Given the description of an element on the screen output the (x, y) to click on. 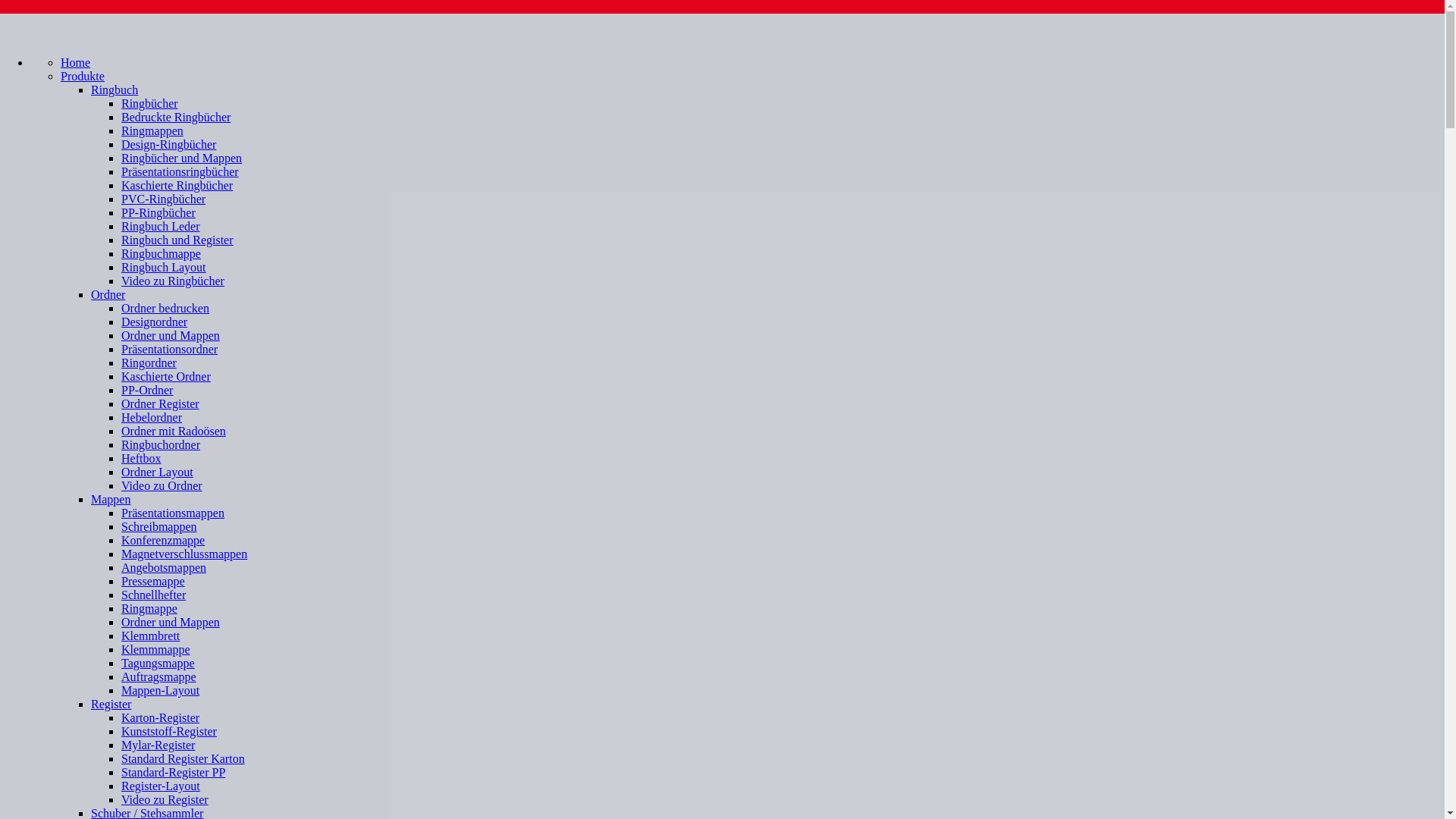
Ringbuchordner Element type: text (160, 444)
Ordner bedrucken Element type: text (165, 307)
Ringbuch Element type: text (114, 89)
Ordner Element type: text (108, 294)
Heftbox Element type: text (140, 457)
Hebelordner Element type: text (151, 417)
Ordner und Mappen Element type: text (170, 335)
Ringmappe Element type: text (149, 608)
Magnetverschlussmappen Element type: text (184, 553)
Mylar-Register Element type: text (157, 744)
Klemmbrett Element type: text (150, 635)
Ordner Layout Element type: text (157, 471)
Ringbuch und Register Element type: text (177, 239)
Ordner Register Element type: text (160, 403)
Tagungsmappe Element type: text (157, 662)
Angebotsmappen Element type: text (163, 567)
Video zu Register Element type: text (164, 799)
Ringmappen Element type: text (152, 130)
Home Element type: text (75, 62)
Standard-Register PP Element type: text (173, 771)
Ringbuch Leder Element type: text (160, 225)
Ringbuchmappe Element type: text (160, 253)
Mappen-Layout Element type: text (160, 690)
Designordner Element type: text (154, 321)
Kaschierte Ordner Element type: text (165, 376)
Schnellhefter Element type: text (153, 594)
Auftragsmappe Element type: text (158, 676)
Register Element type: text (111, 703)
Mappen Element type: text (110, 498)
Video zu Ordner Element type: text (161, 485)
Schreibmappen Element type: text (159, 526)
PP-Ordner Element type: text (146, 389)
Standard Register Karton Element type: text (182, 758)
Kunststoff-Register Element type: text (168, 730)
Karton-Register Element type: text (160, 717)
Klemmmappe Element type: text (155, 649)
Ringbuch Layout Element type: text (163, 266)
Register-Layout Element type: text (160, 785)
Ordner und Mappen Element type: text (170, 621)
Konferenzmappe Element type: text (162, 539)
Produkte Element type: text (82, 75)
Pressemappe Element type: text (153, 580)
Ringordner Element type: text (148, 362)
